Given the description of an element on the screen output the (x, y) to click on. 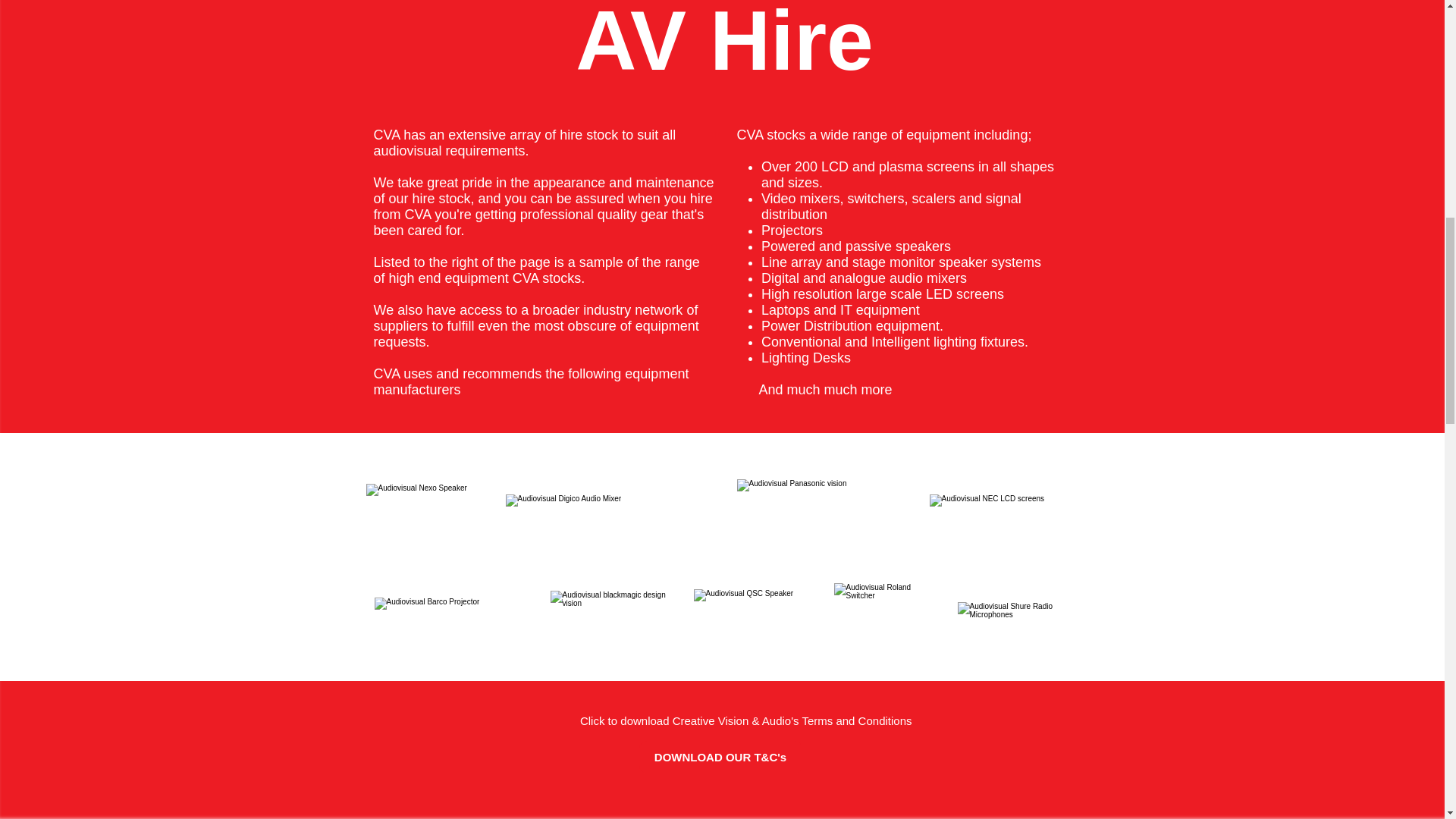
logo-panasonic-negro1.png (817, 520)
NEC-logo-small.gif (1002, 513)
logo.png (609, 515)
